Given the description of an element on the screen output the (x, y) to click on. 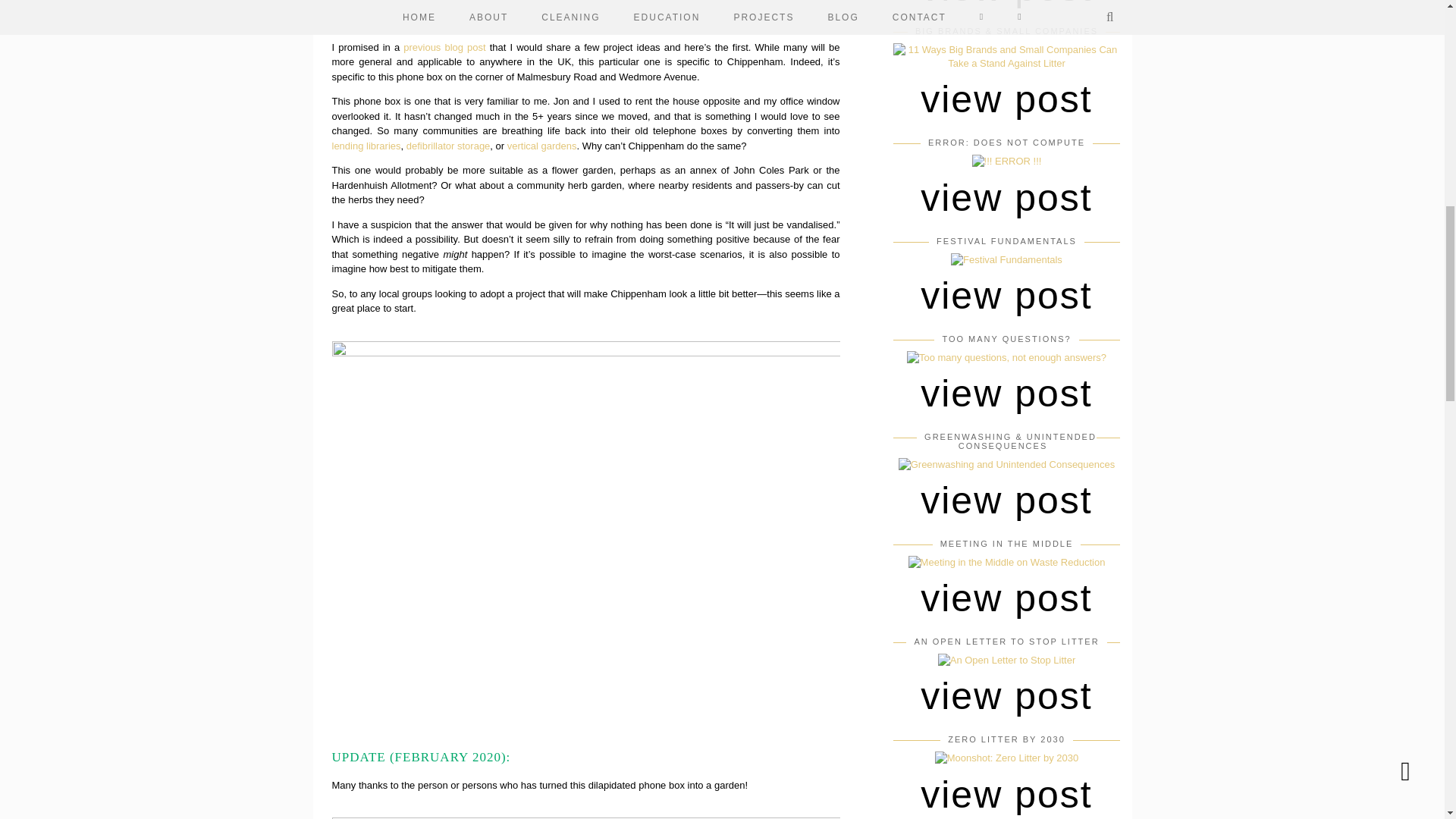
defibrillator storage (448, 144)
previous blog post (443, 46)
lending libraries (366, 144)
vertical gardens (541, 144)
